Given the description of an element on the screen output the (x, y) to click on. 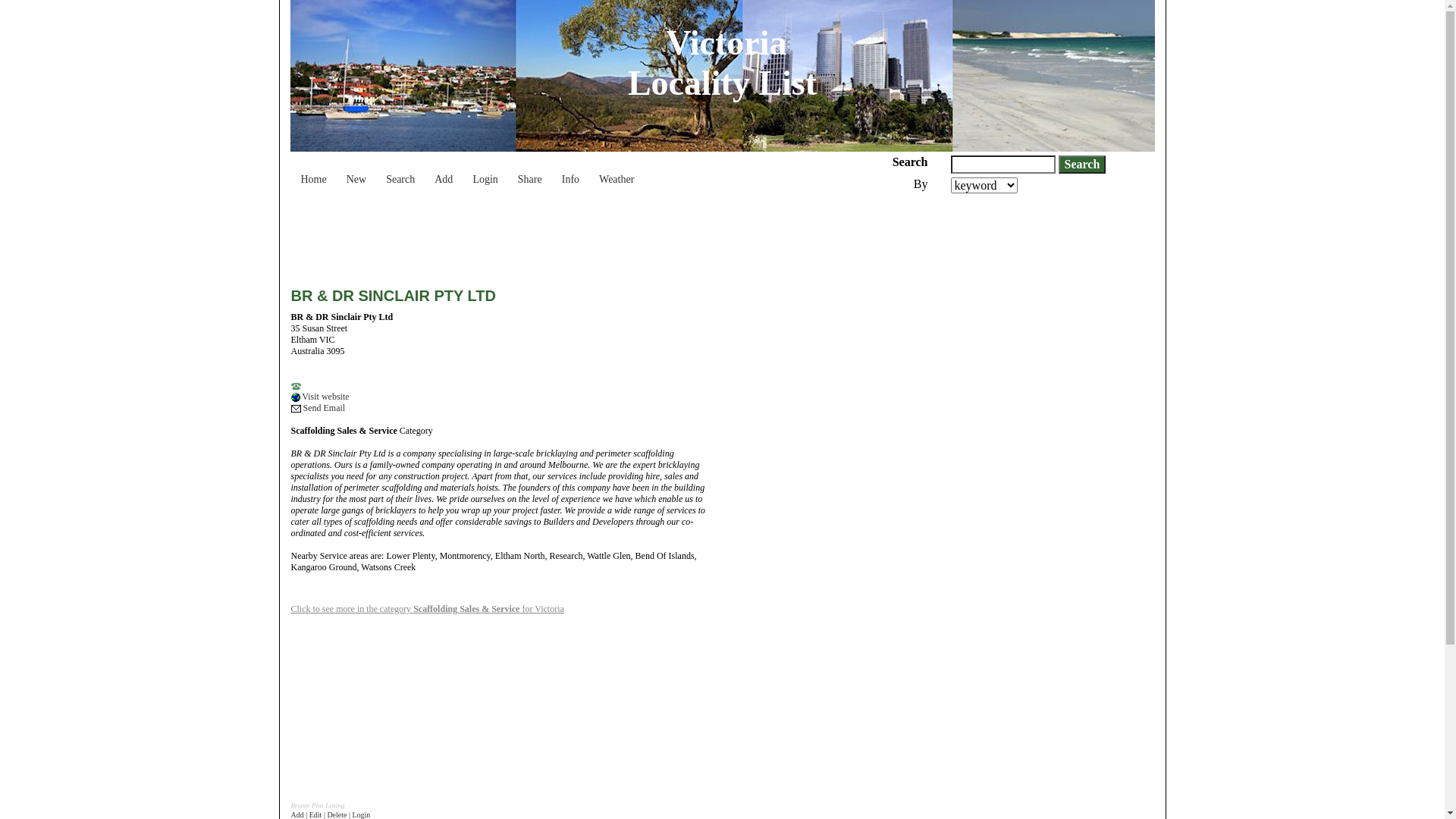
Search Element type: text (400, 171)
Weather Element type: text (616, 171)
New Element type: text (356, 171)
Visit website Element type: text (320, 396)
Home Element type: text (313, 171)
Login Element type: text (484, 171)
Send Email Element type: text (318, 407)
Info Element type: text (570, 171)
Advertisement Element type: hover (567, 234)
Share Element type: text (530, 171)
Add Element type: text (443, 171)
Advertisement Element type: hover (1015, 565)
Search Element type: text (1082, 164)
Visit Website Element type: hover (295, 396)
